Given the description of an element on the screen output the (x, y) to click on. 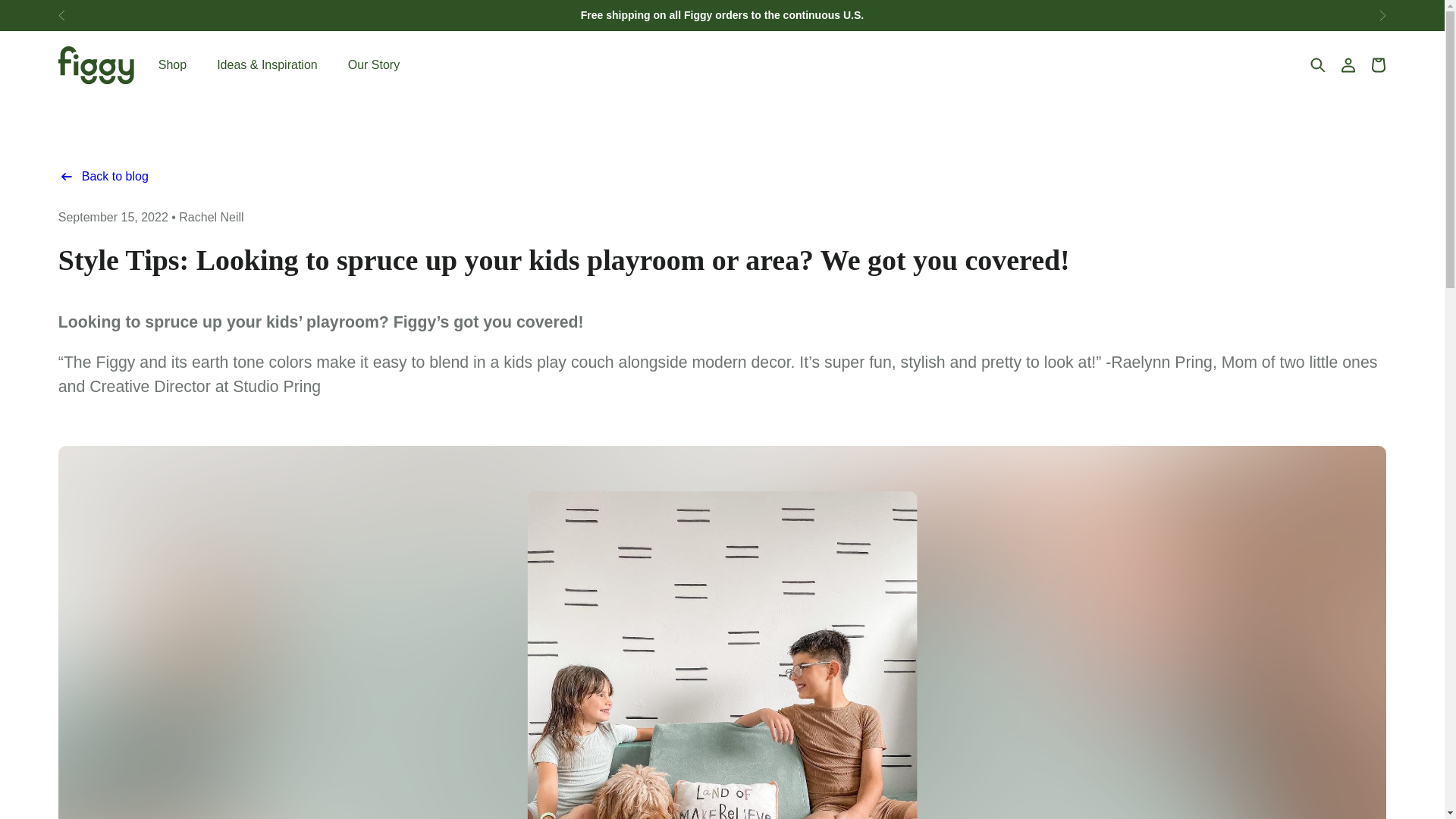
Back to blog (103, 176)
Log in (1347, 64)
Our Story (372, 65)
Cart (1378, 64)
Skip to content (55, 7)
